Given the description of an element on the screen output the (x, y) to click on. 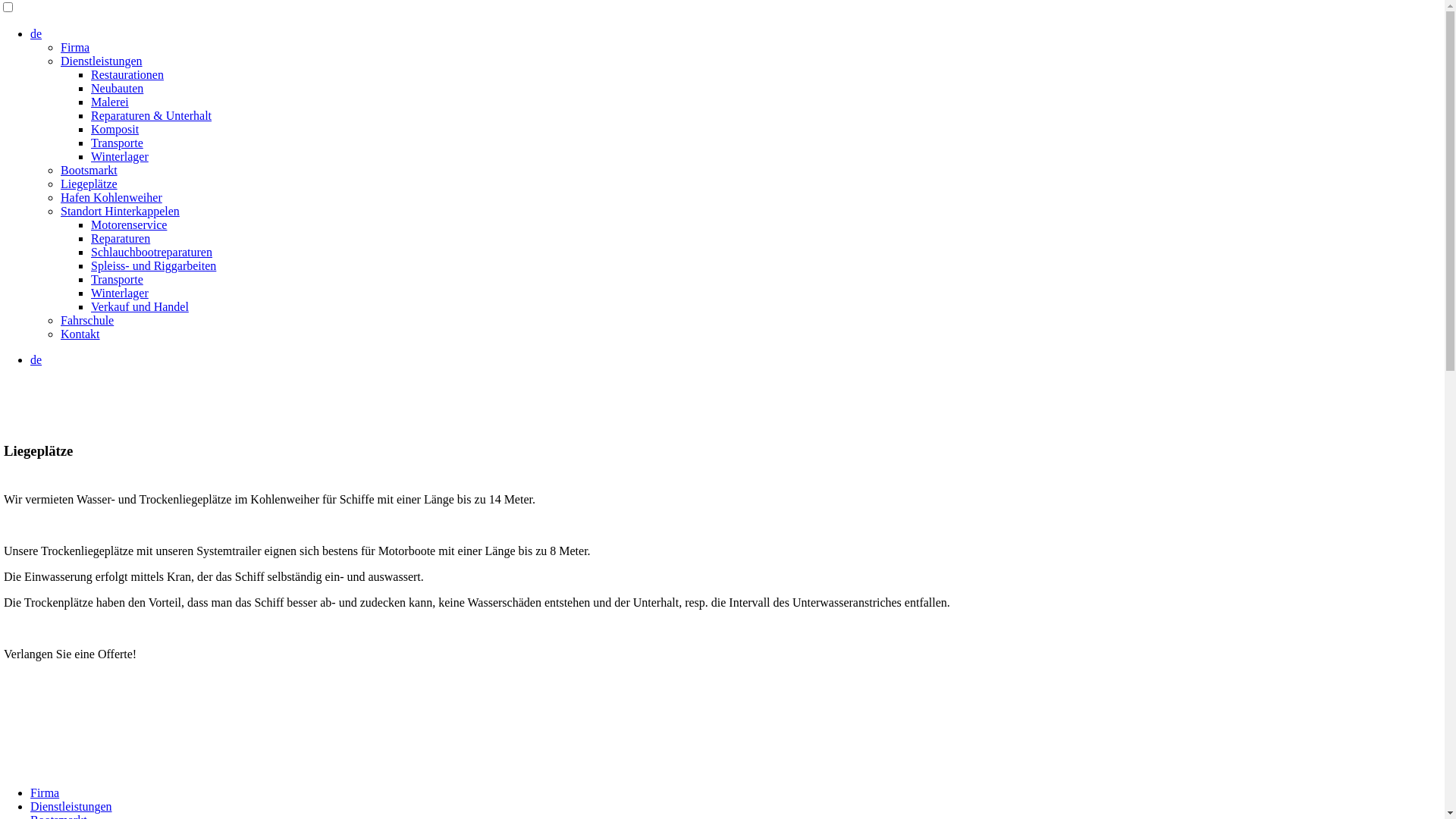
Bootsmarkt Element type: text (88, 169)
Winterlager Element type: text (119, 156)
Fahrschule Element type: text (86, 319)
de Element type: text (35, 359)
Malerei Element type: text (109, 101)
Motorenservice Element type: text (128, 224)
Komposit Element type: text (114, 128)
Reparaturen & Unterhalt Element type: text (151, 115)
Firma Element type: text (44, 792)
Firma Element type: text (74, 46)
Spleiss- und Riggarbeiten Element type: text (153, 265)
Transporte Element type: text (117, 142)
de Element type: text (35, 33)
Transporte Element type: text (117, 279)
Restaurationen Element type: text (127, 74)
Dienstleistungen Element type: text (71, 806)
Neubauten Element type: text (117, 87)
Dienstleistungen Element type: text (101, 60)
Reparaturen Element type: text (120, 238)
Schlauchbootreparaturen Element type: text (151, 251)
Kontakt Element type: text (80, 333)
Hafen Kohlenweiher Element type: text (111, 197)
Verkauf und Handel Element type: text (139, 306)
Standort Hinterkappelen Element type: text (119, 210)
Winterlager Element type: text (119, 292)
